Given the description of an element on the screen output the (x, y) to click on. 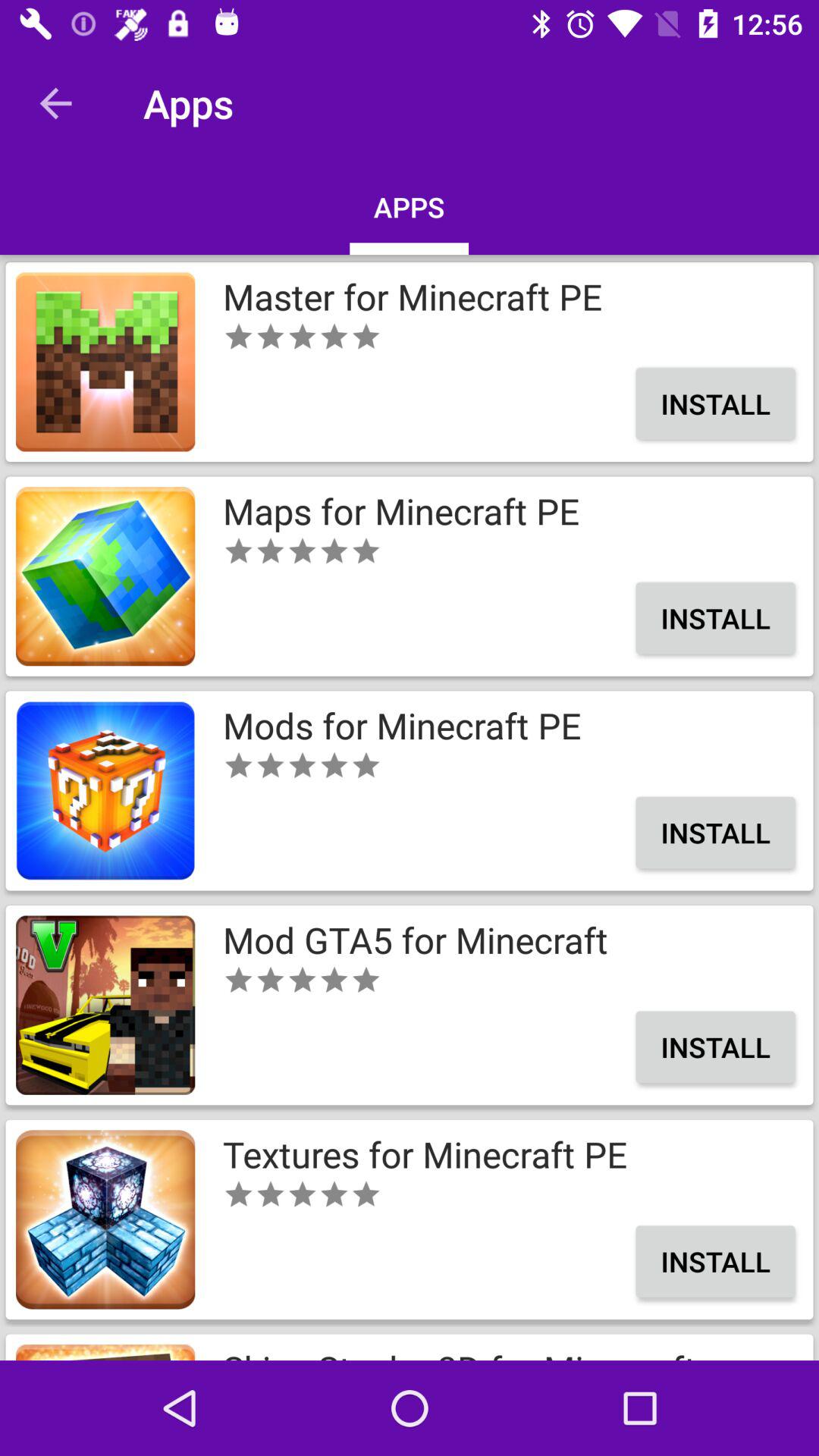
launch icon next to apps item (55, 103)
